Given the description of an element on the screen output the (x, y) to click on. 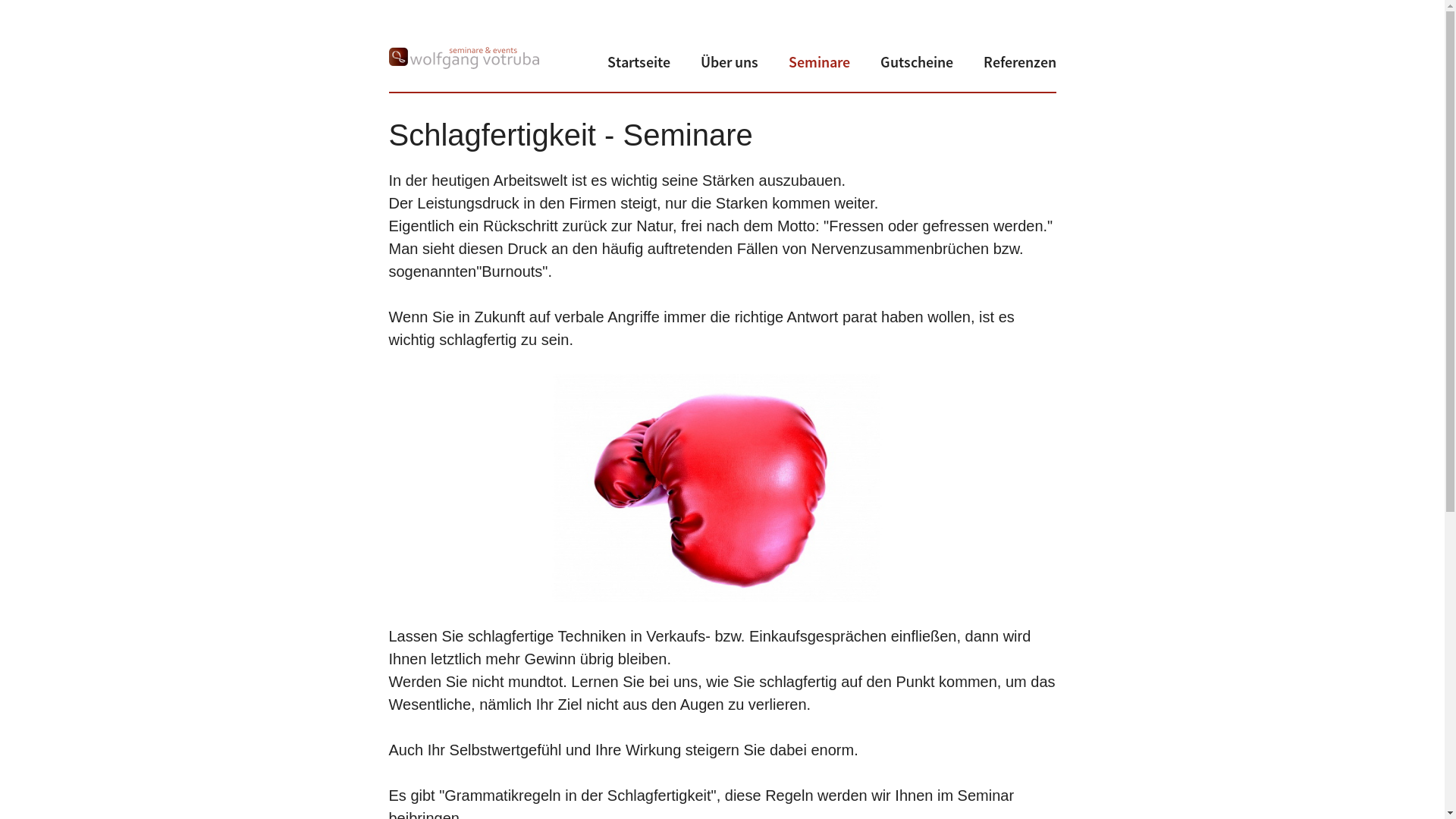
Seminare Element type: text (819, 61)
Referenzen Element type: text (1018, 61)
Startseite Element type: text (637, 61)
Gutscheine Element type: text (915, 61)
